Given the description of an element on the screen output the (x, y) to click on. 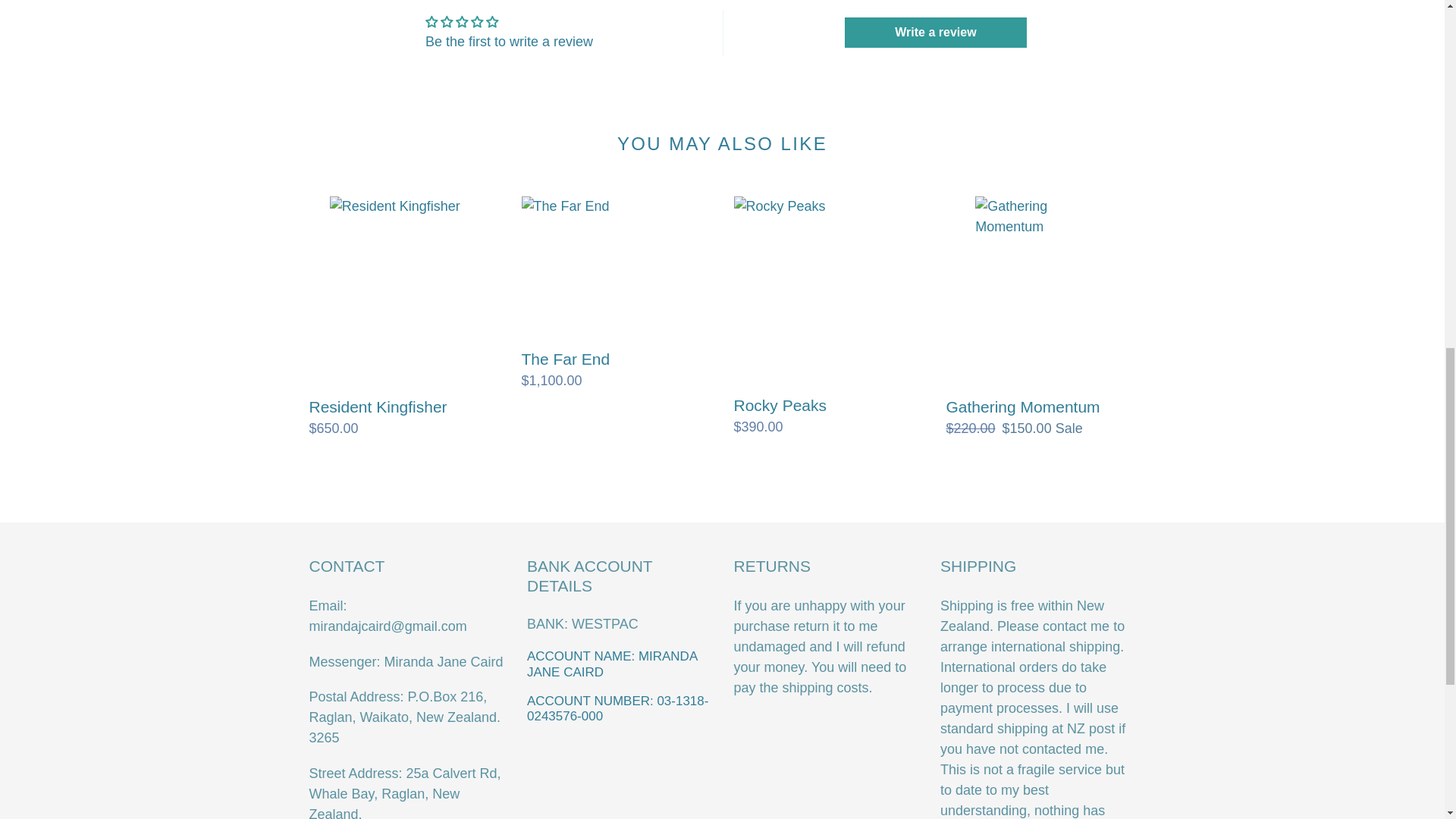
Write a review (935, 32)
Resident Kingfisher (403, 317)
Gathering Momentum (1040, 317)
The Far End (616, 293)
Rocky Peaks (828, 316)
